Given the description of an element on the screen output the (x, y) to click on. 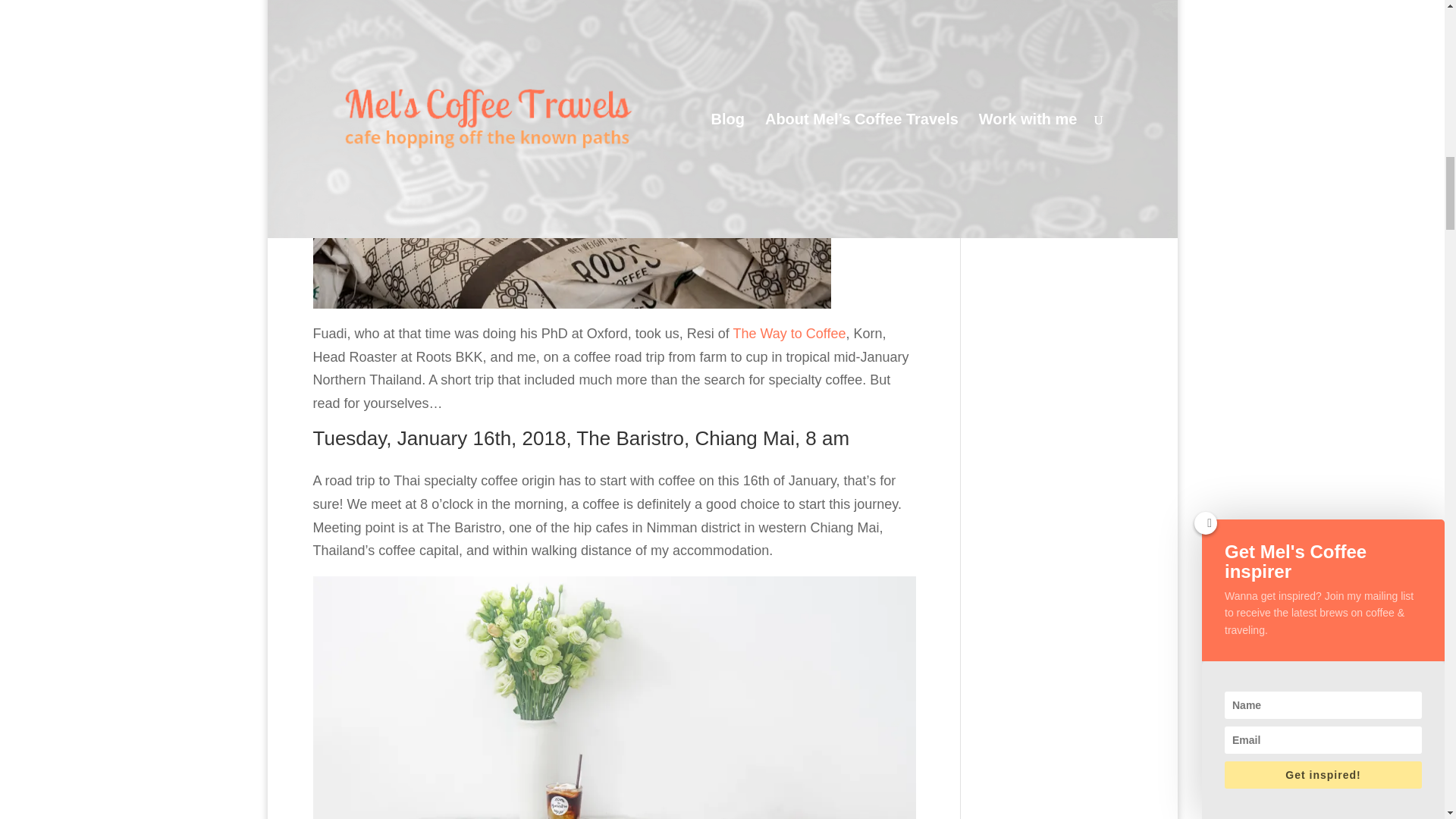
The Way to Coffee (788, 333)
